Given the description of an element on the screen output the (x, y) to click on. 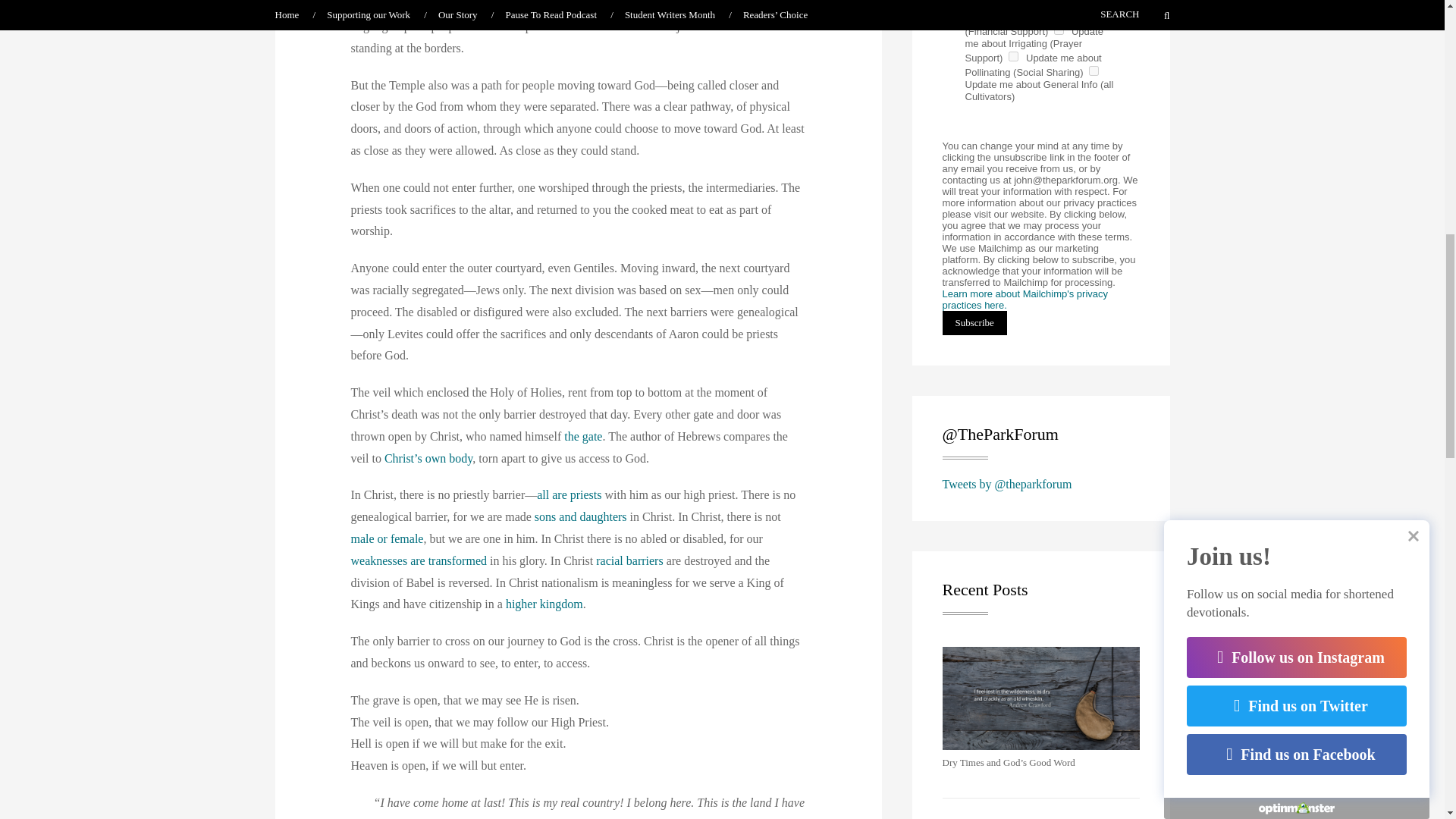
Y (972, 15)
Subscribe (974, 322)
sons and daughters (580, 516)
the gate (583, 436)
racial barriers (628, 560)
Y (1059, 30)
Y (1013, 56)
all are priests (569, 494)
male or female (386, 538)
Y (1094, 71)
higher kingdom (544, 603)
weaknesses are transformed (418, 560)
